Given the description of an element on the screen output the (x, y) to click on. 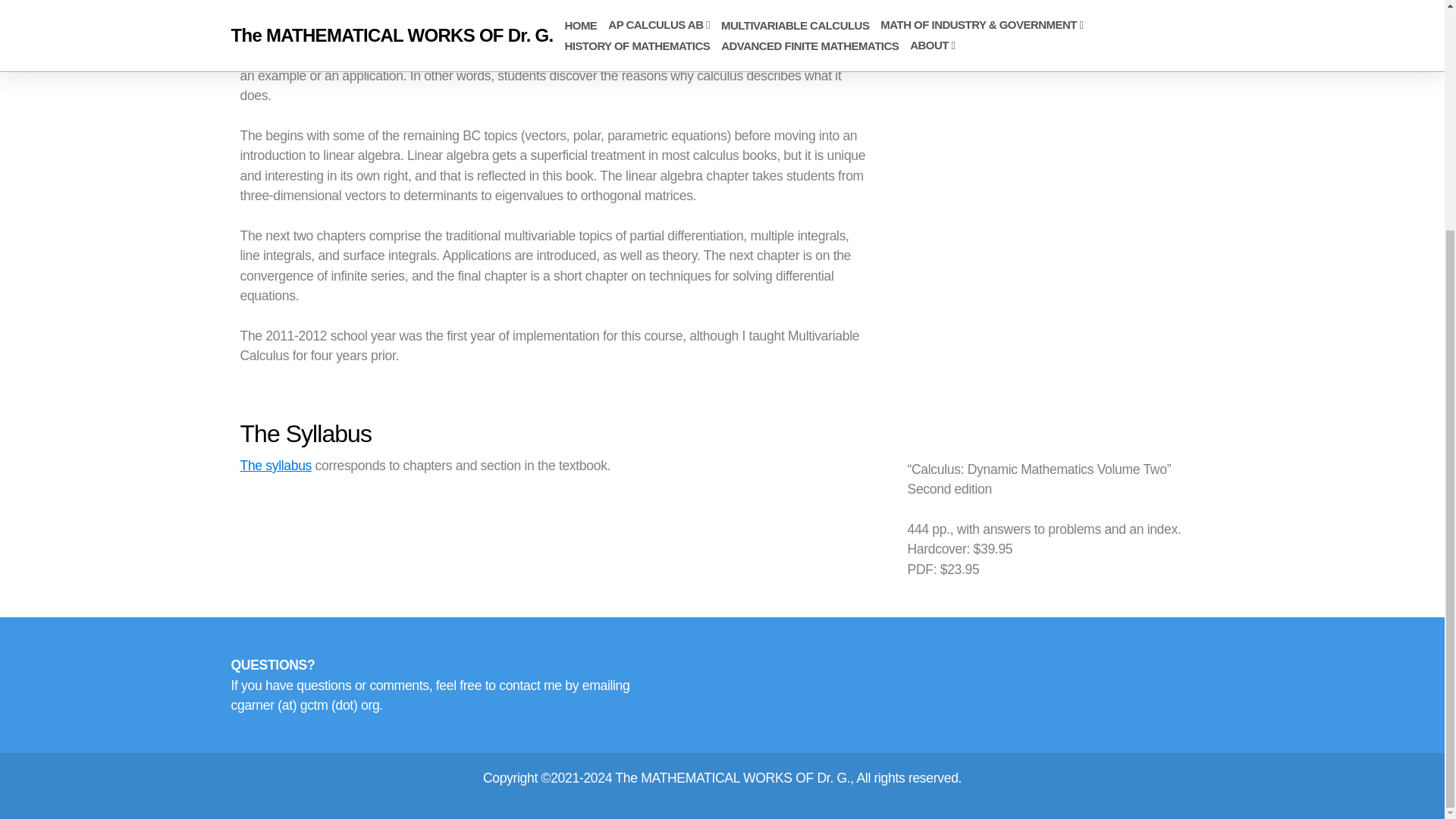
The syllabus (275, 465)
